Given the description of an element on the screen output the (x, y) to click on. 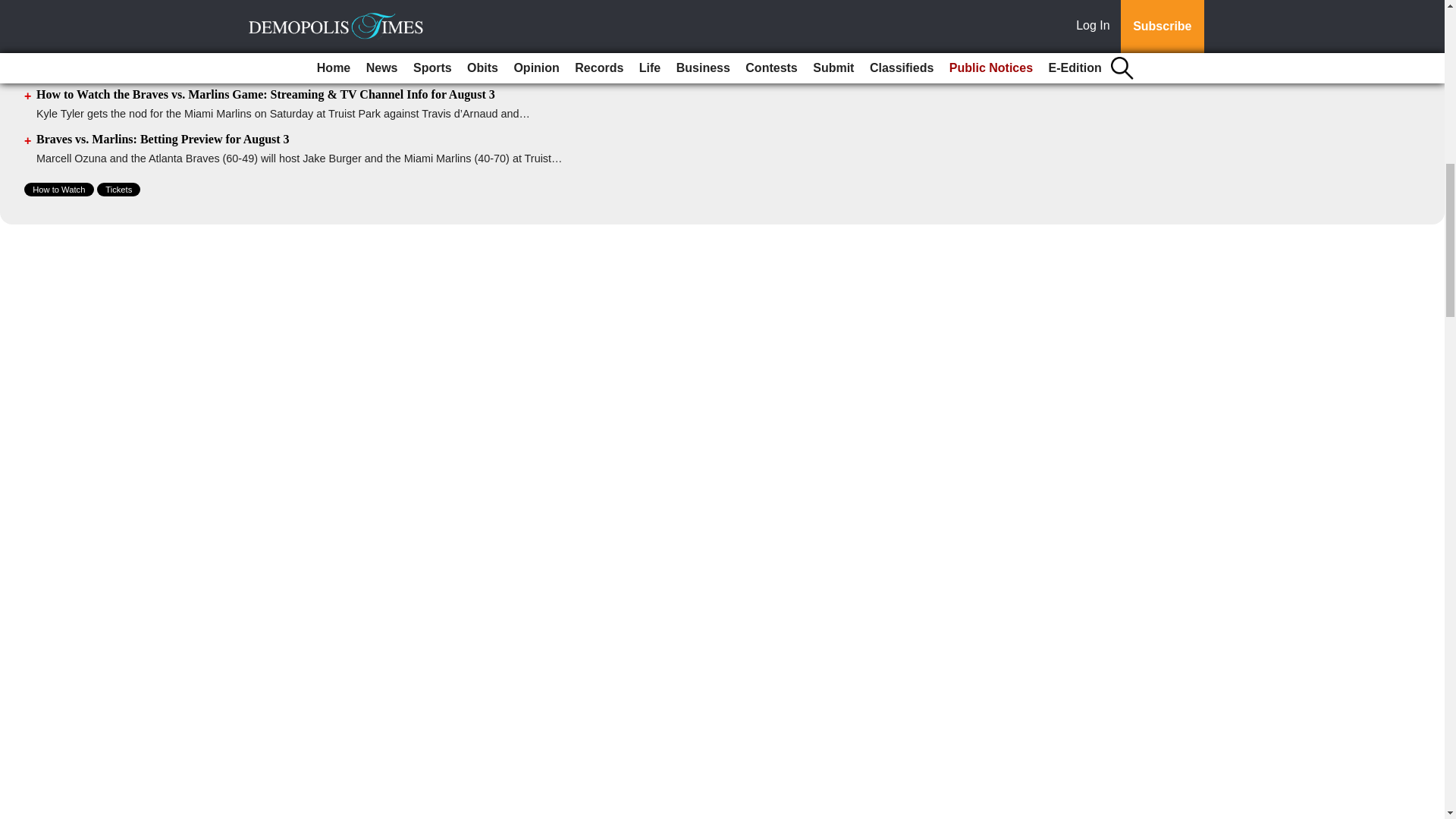
How to Watch (59, 189)
Braves vs. Marlins: Betting Preview for August 4 (162, 5)
Tickets (118, 189)
Braves vs. Marlins: Betting Preview for August 3 (162, 138)
